Given the description of an element on the screen output the (x, y) to click on. 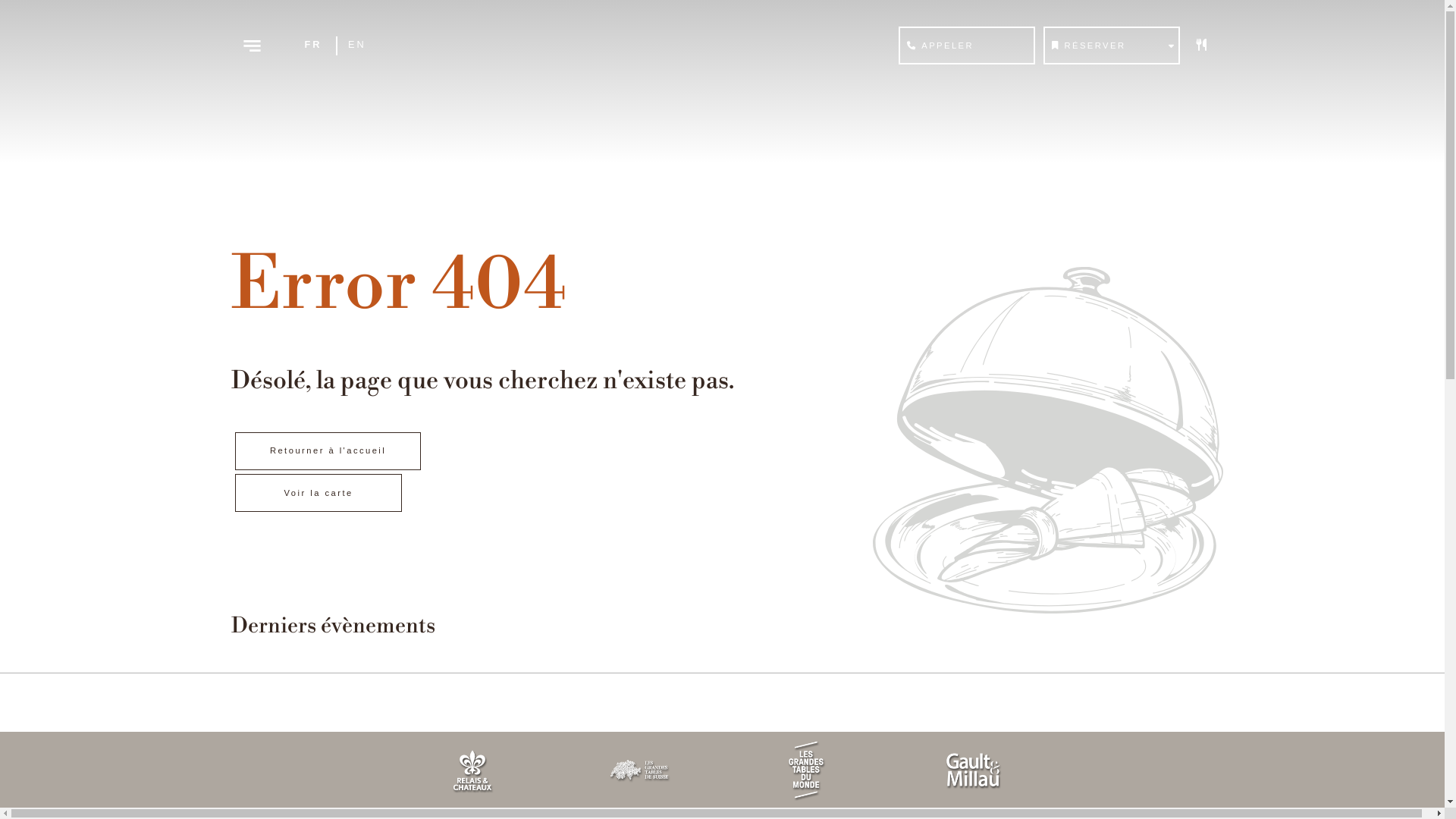
Le Restaurant Element type: text (387, 785)
Le Domaine Element type: text (387, 761)
APPELER Element type: text (966, 45)
La carte Element type: text (387, 810)
Accueil Element type: text (387, 737)
EN Element type: text (357, 45)
Voir la carte Element type: text (318, 492)
FR Element type: text (313, 45)
